Given the description of an element on the screen output the (x, y) to click on. 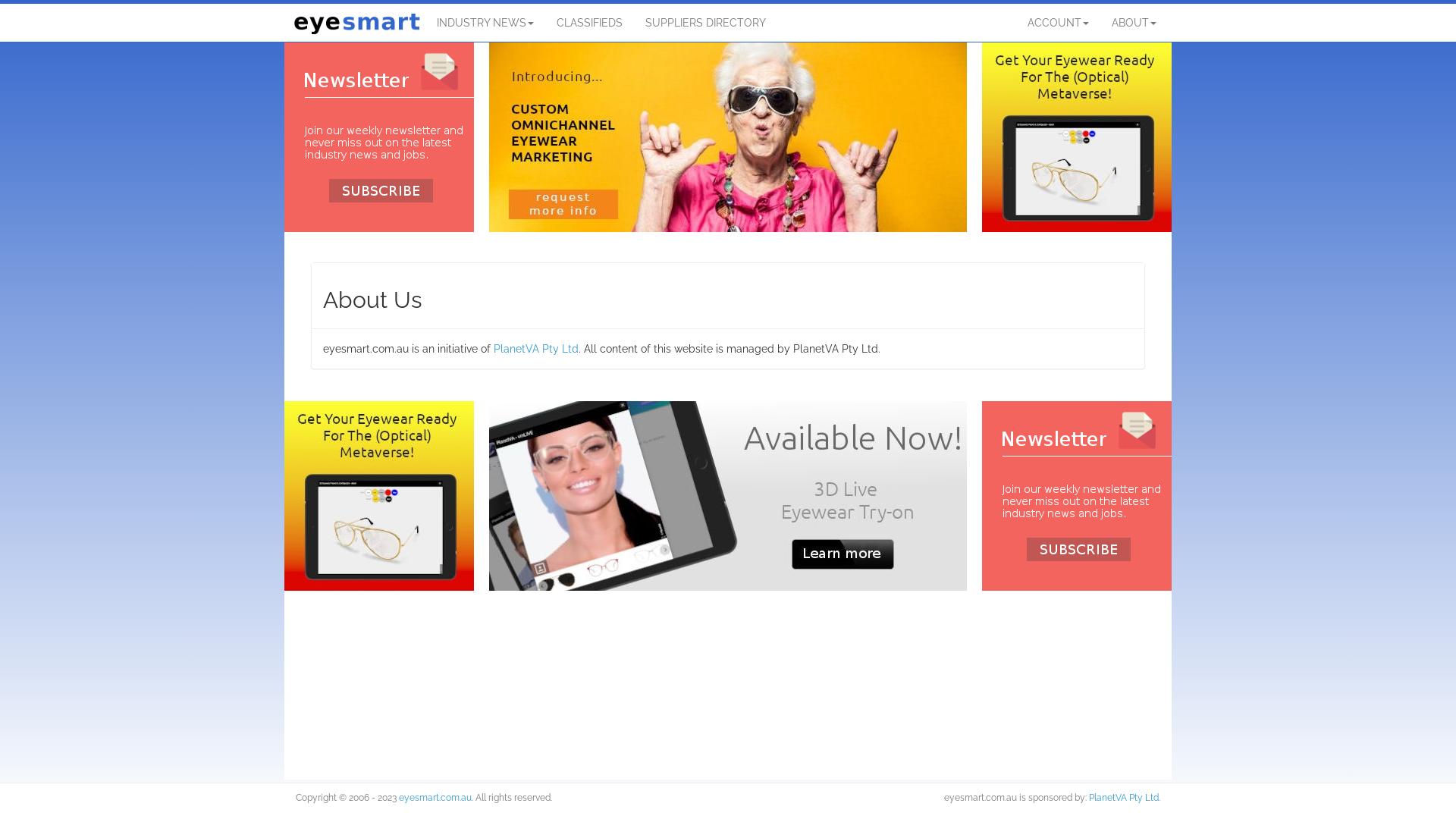
CLASSIFIEDS Element type: text (589, 22)
PlanetVA Pty Ltd Element type: text (535, 348)
eyesmart.com.au Element type: text (434, 797)
INDUSTRY NEWS Element type: text (485, 22)
ACCOUNT Element type: text (1058, 22)
ABOUT Element type: text (1133, 22)
SUPPLIERS DIRECTORY Element type: text (705, 22)
PlanetVA Pty Ltd Element type: text (1123, 797)
